Given the description of an element on the screen output the (x, y) to click on. 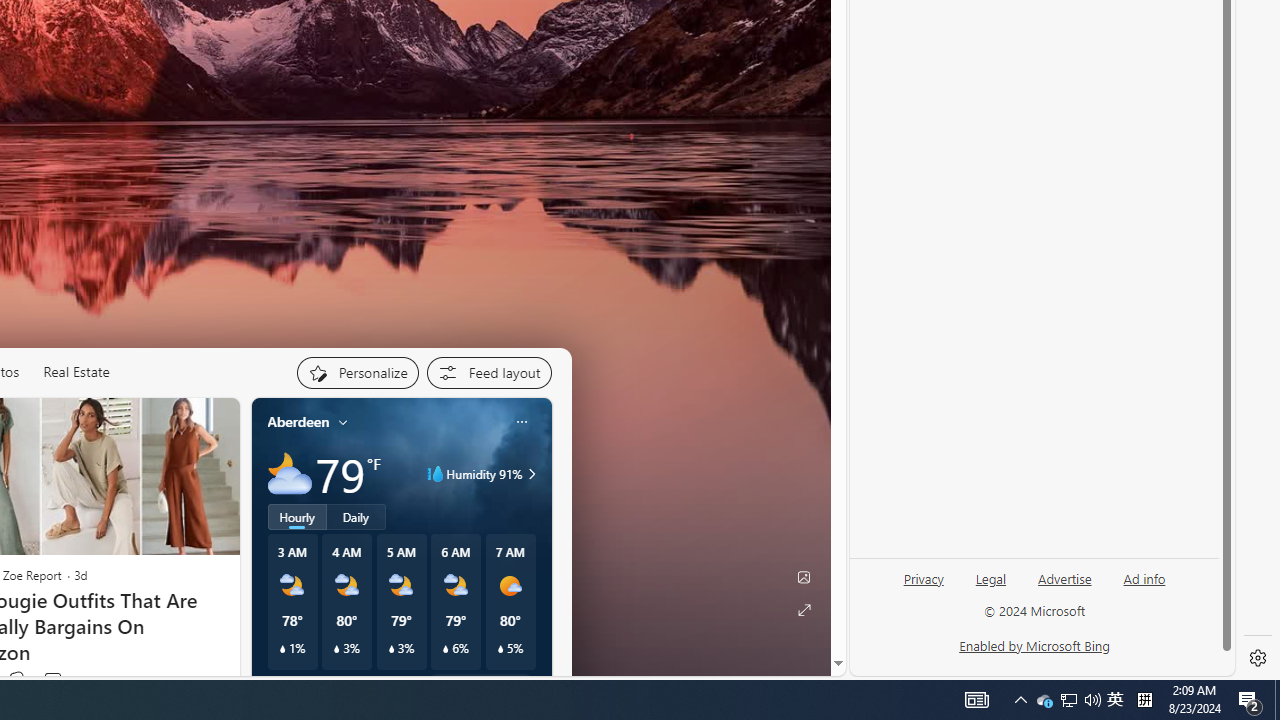
Real Estate (75, 372)
Class: weather-arrow-glyph (531, 474)
Mostly cloudy (289, 474)
Expand background (803, 610)
Humidity 91% (529, 474)
